Given the description of an element on the screen output the (x, y) to click on. 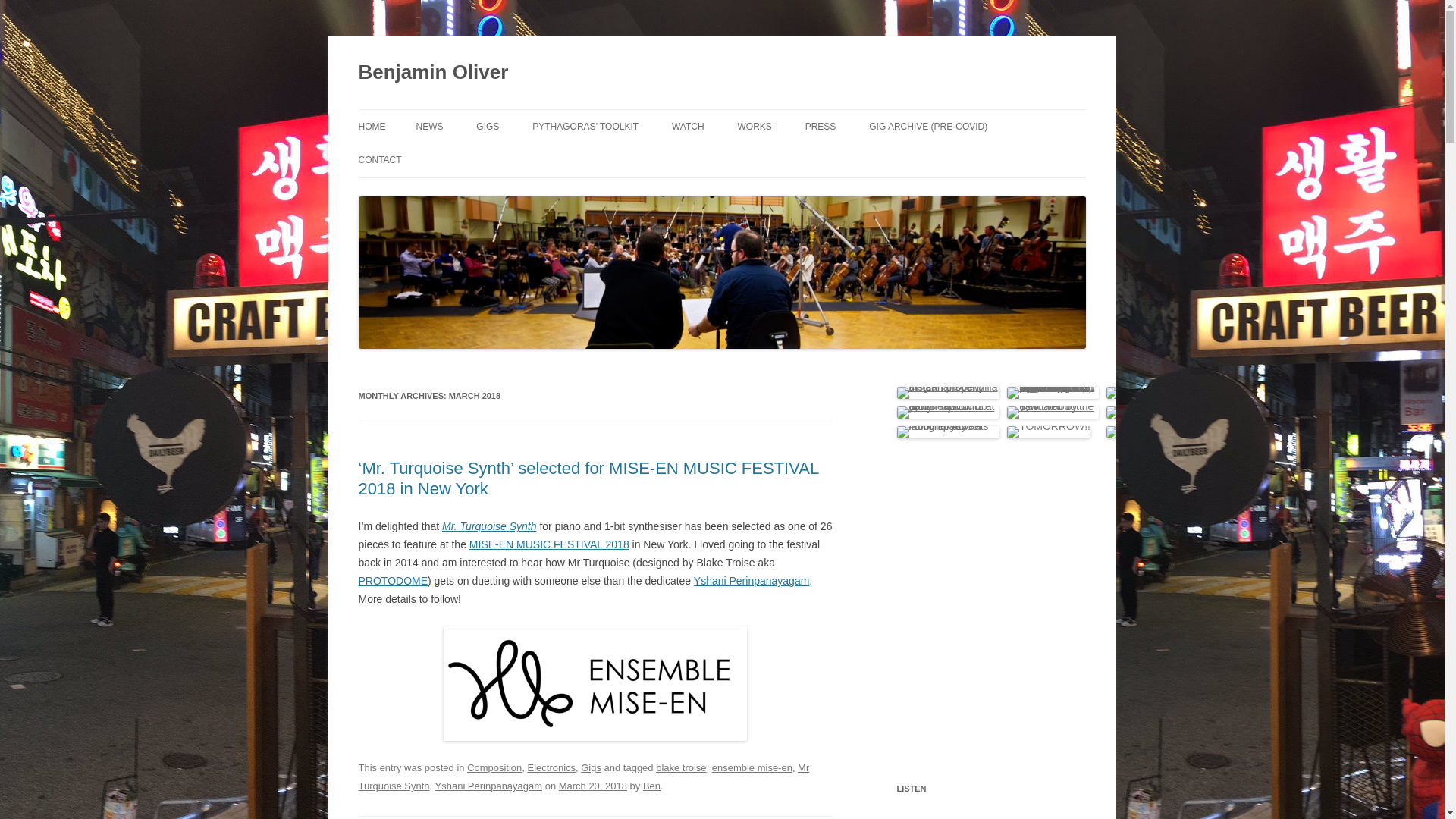
blake troise (681, 767)
PRESS (820, 126)
PROTODOME (393, 580)
Ben (652, 785)
Yshani Perinpanayagam (488, 785)
Gigs (590, 767)
Mr. Turquoise Synth (489, 526)
WORKS (753, 126)
Mr Turquoise Synth (583, 776)
Composition (494, 767)
Electronics (551, 767)
Yshani Perinpanayagam (751, 580)
View all posts by Ben (652, 785)
Benjamin Oliver (433, 72)
